Given the description of an element on the screen output the (x, y) to click on. 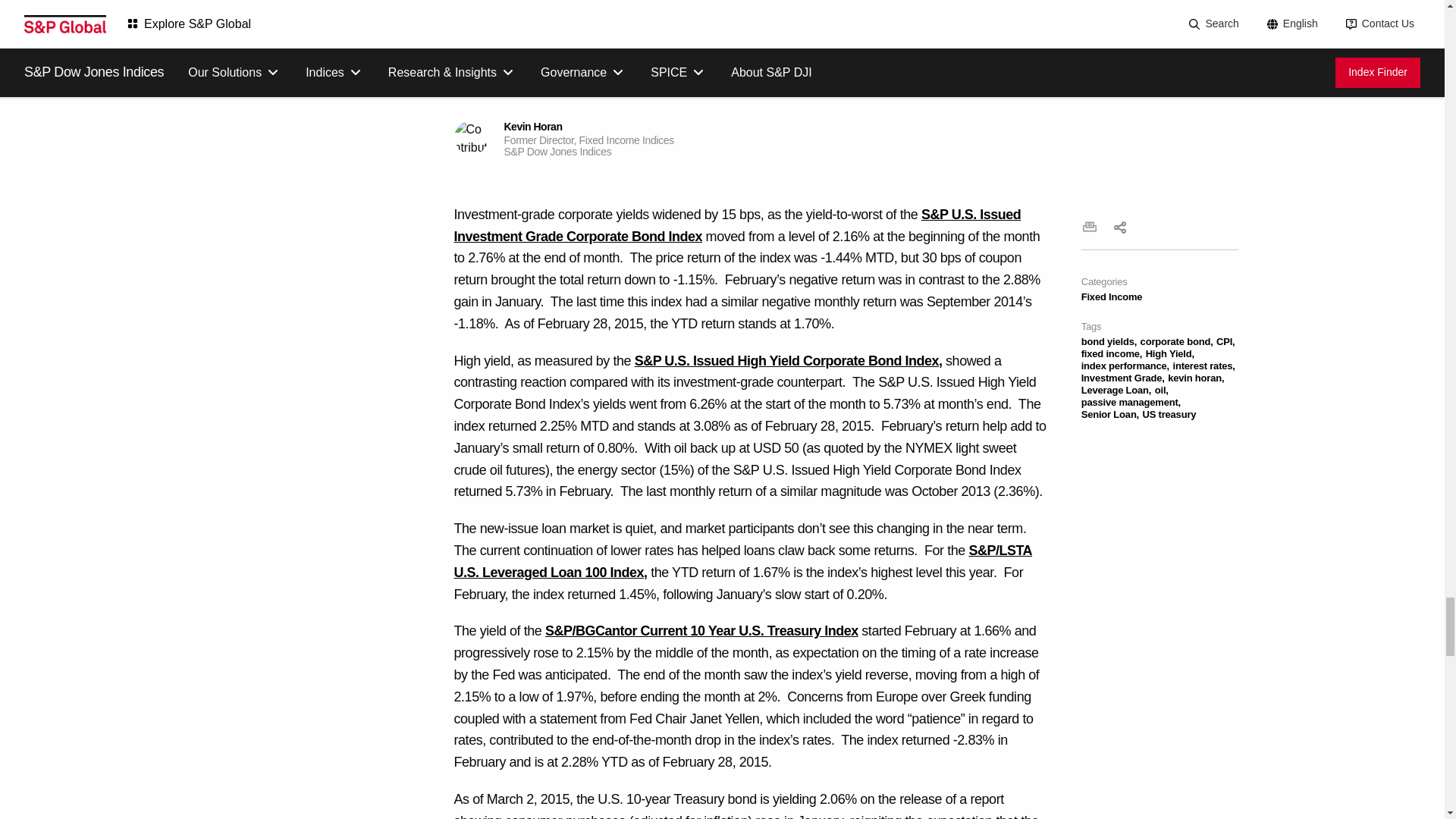
Kevin Horan (469, 137)
